Given the description of an element on the screen output the (x, y) to click on. 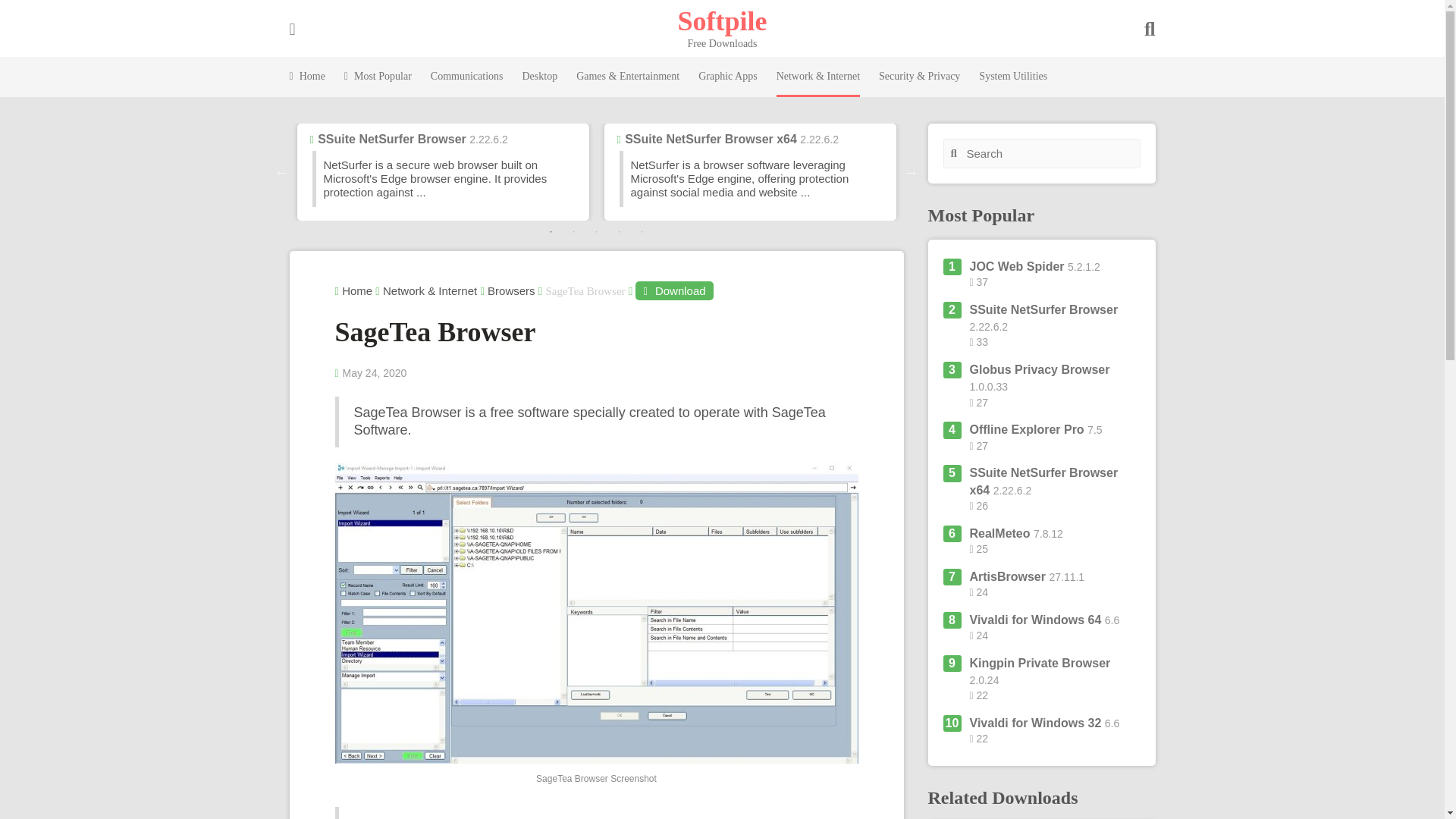
Communications (466, 76)
Graphic Apps (727, 76)
System Utilities (1012, 76)
Softpile (722, 20)
Free Downloads (722, 20)
SSuite NetSurfer Browser x64 (710, 138)
Download SageTea Browser 8.5 (673, 290)
Most Popular (377, 76)
PREVIOUS (282, 171)
SSuite NetSurfer Browser (391, 138)
